Given the description of an element on the screen output the (x, y) to click on. 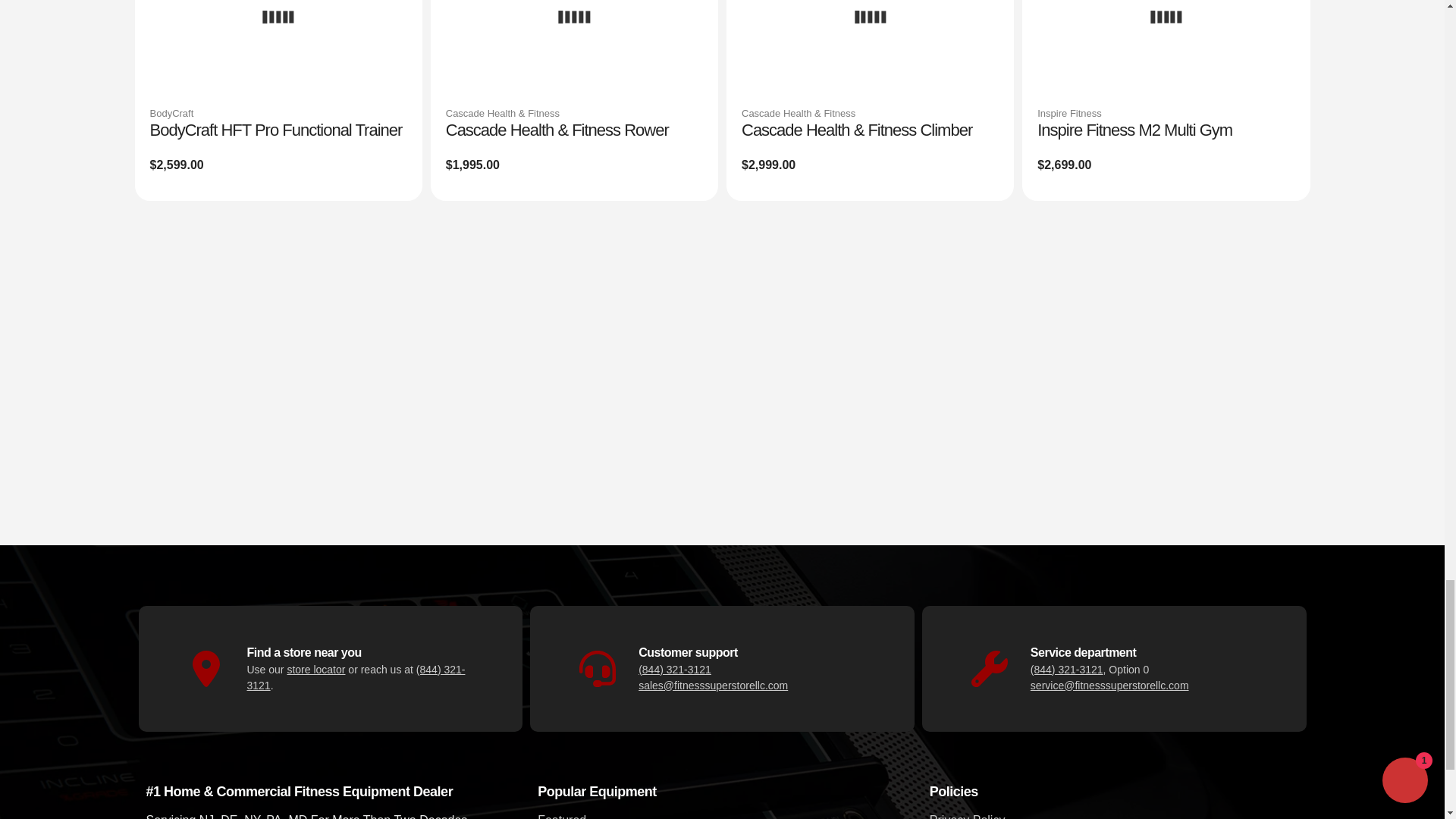
Our Locations (315, 668)
